Given the description of an element on the screen output the (x, y) to click on. 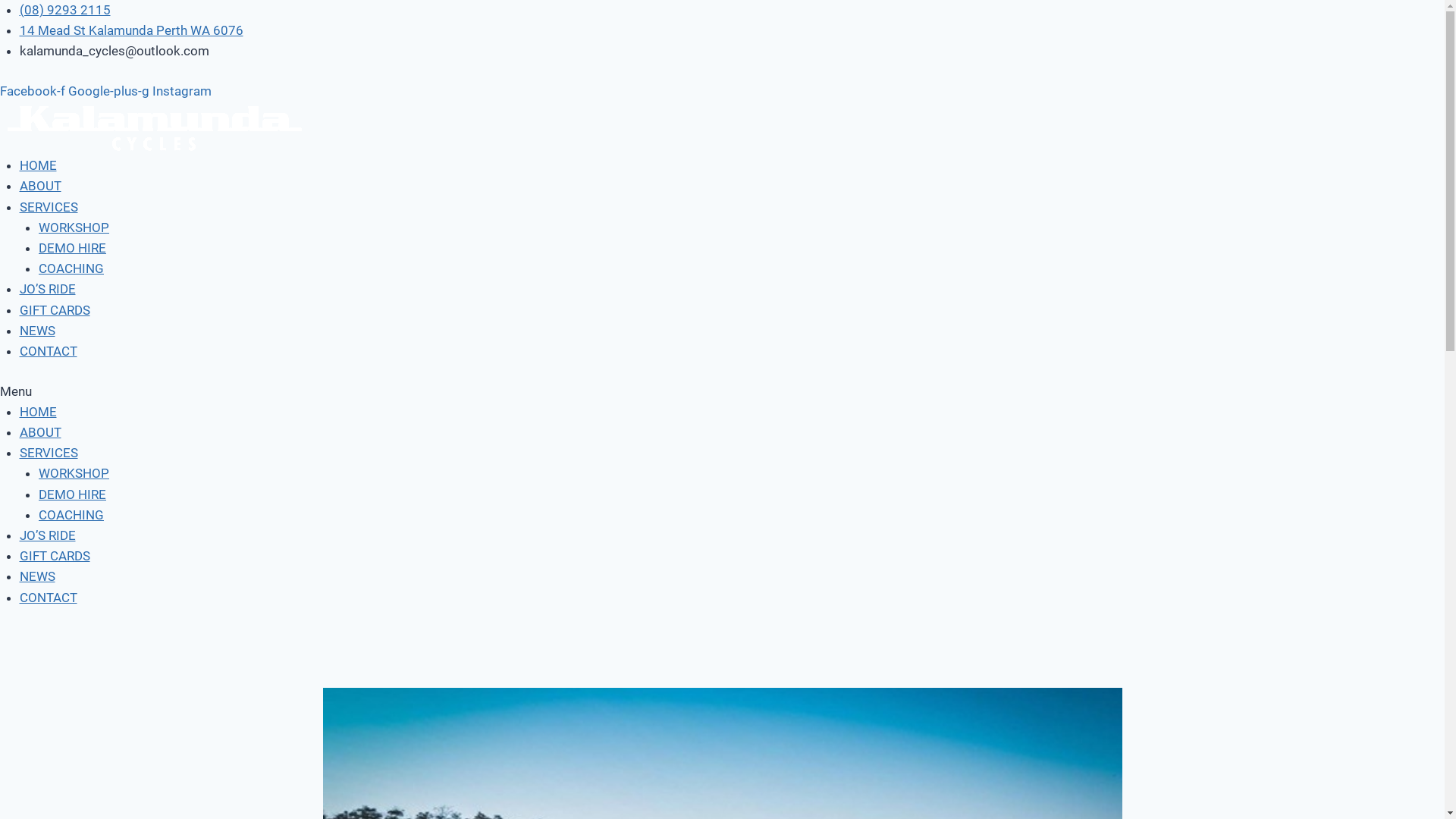
Google-plus-g Element type: text (110, 90)
SERVICES Element type: text (48, 452)
ABOUT Element type: text (40, 431)
Facebook-f Element type: text (34, 90)
WORKSHOP Element type: text (73, 472)
GIFT CARDS Element type: text (54, 309)
GIFT CARDS Element type: text (54, 555)
ABOUT Element type: text (40, 185)
COACHING Element type: text (70, 514)
(08) 9293 2115 Element type: text (64, 9)
CONTACT Element type: text (48, 350)
WORKSHOP Element type: text (73, 227)
NEWS Element type: text (37, 575)
DEMO HIRE Element type: text (72, 494)
NEWS Element type: text (37, 330)
CONTACT Element type: text (48, 597)
SERVICES Element type: text (48, 206)
HOME Element type: text (37, 164)
14 Mead St Kalamunda Perth WA 6076 Element type: text (131, 29)
COACHING Element type: text (70, 268)
Instagram Element type: text (181, 90)
DEMO HIRE Element type: text (72, 247)
HOME Element type: text (37, 411)
